Given the description of an element on the screen output the (x, y) to click on. 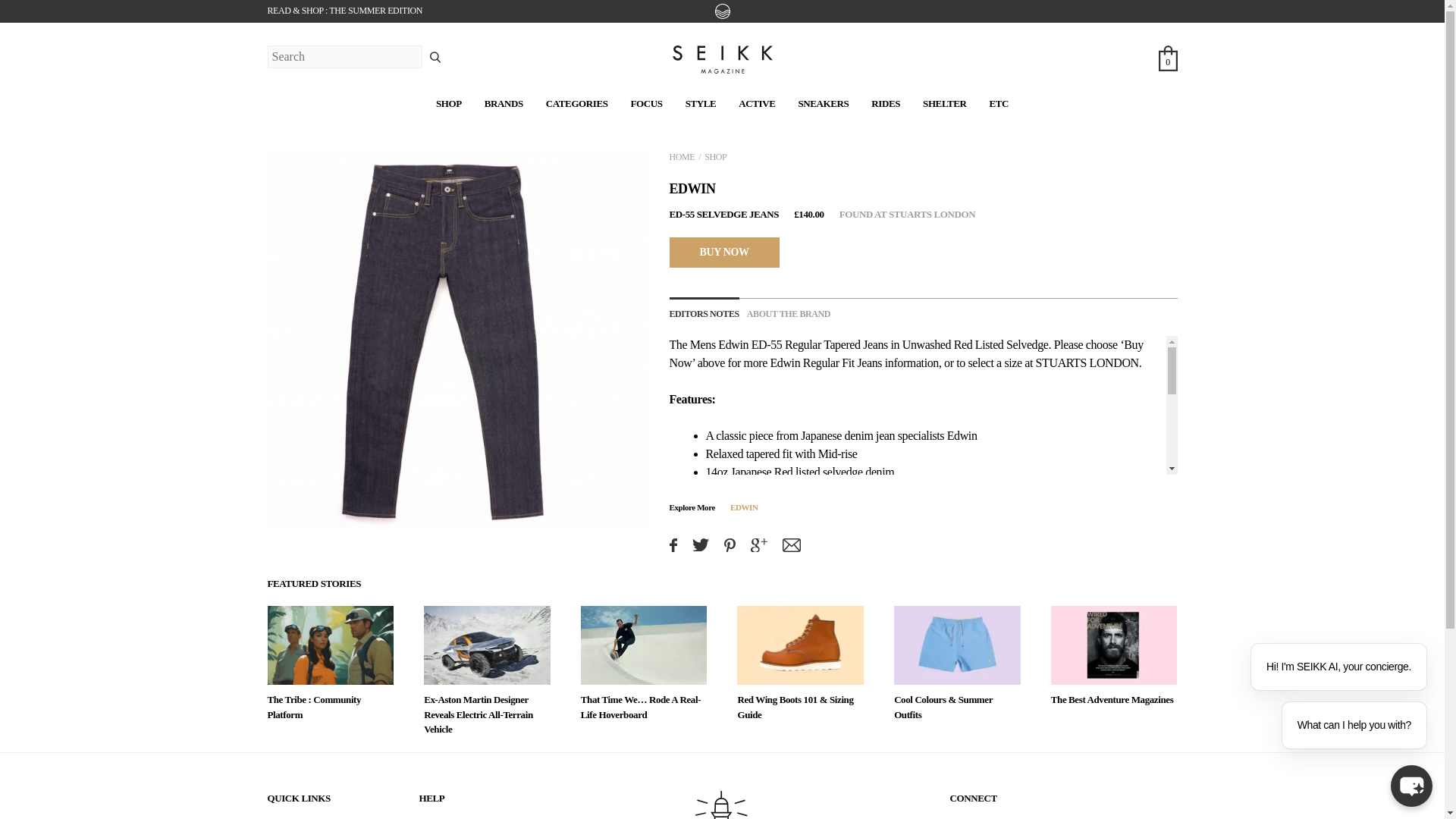
HOME (681, 156)
STYLE (700, 102)
ACTIVE (756, 102)
SHELTER (944, 102)
CATEGORIES (577, 102)
EDWIN (744, 506)
BUY NOW (723, 251)
SHOP (448, 102)
SHOP (715, 156)
EDWIN (691, 188)
SNEAKERS (822, 102)
ETC (998, 102)
BRANDS (503, 102)
RIDES (884, 102)
Edwin (732, 344)
